Given the description of an element on the screen output the (x, y) to click on. 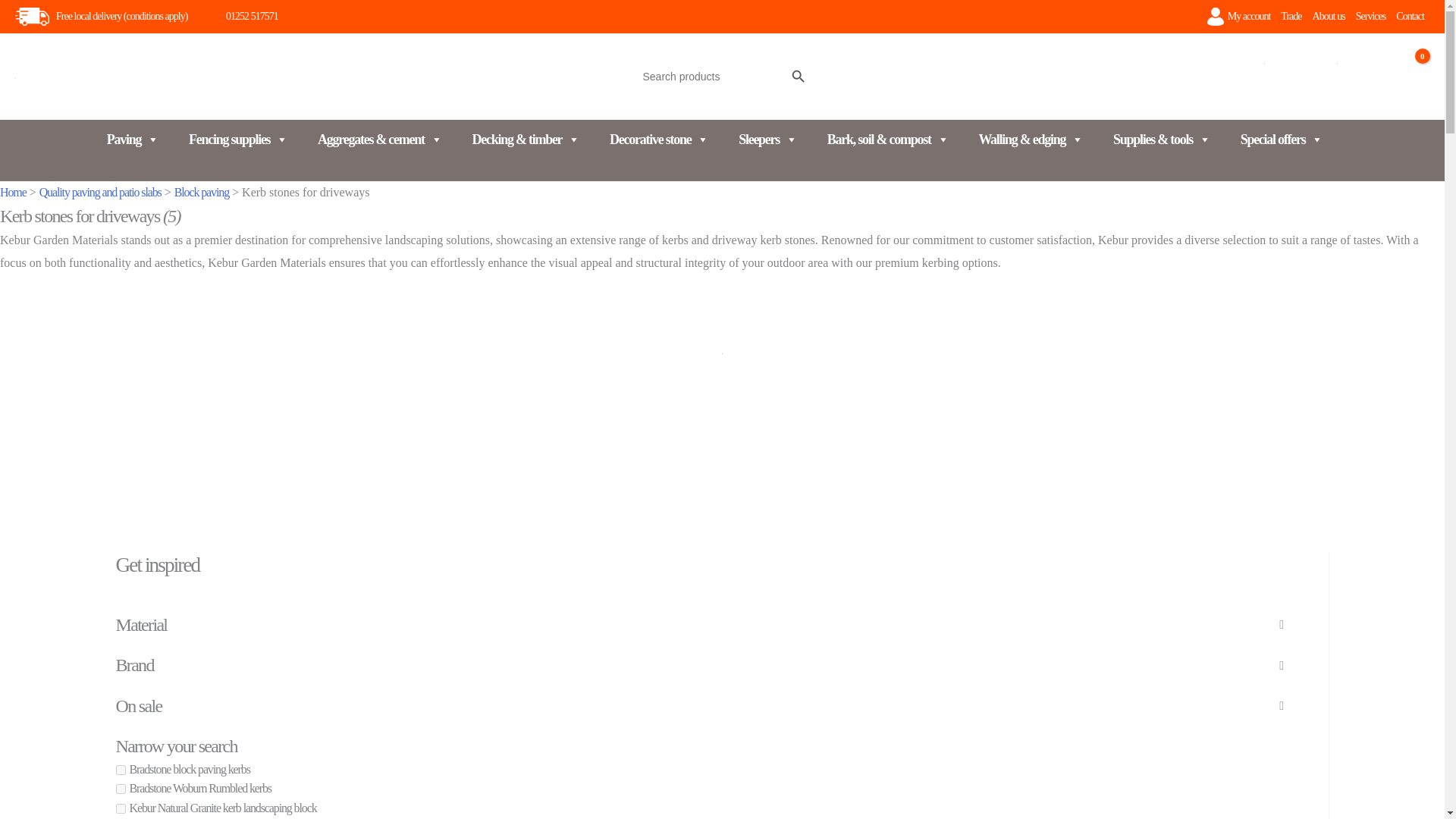
My account (1249, 16)
Paving (132, 139)
Trade (1290, 16)
About us (1329, 16)
Search Button (797, 76)
01252 517571 (241, 16)
Wishlist (1336, 89)
7796 (120, 769)
Services (1371, 16)
Contact (1409, 16)
10097 (120, 788)
10098 (120, 808)
